Given the description of an element on the screen output the (x, y) to click on. 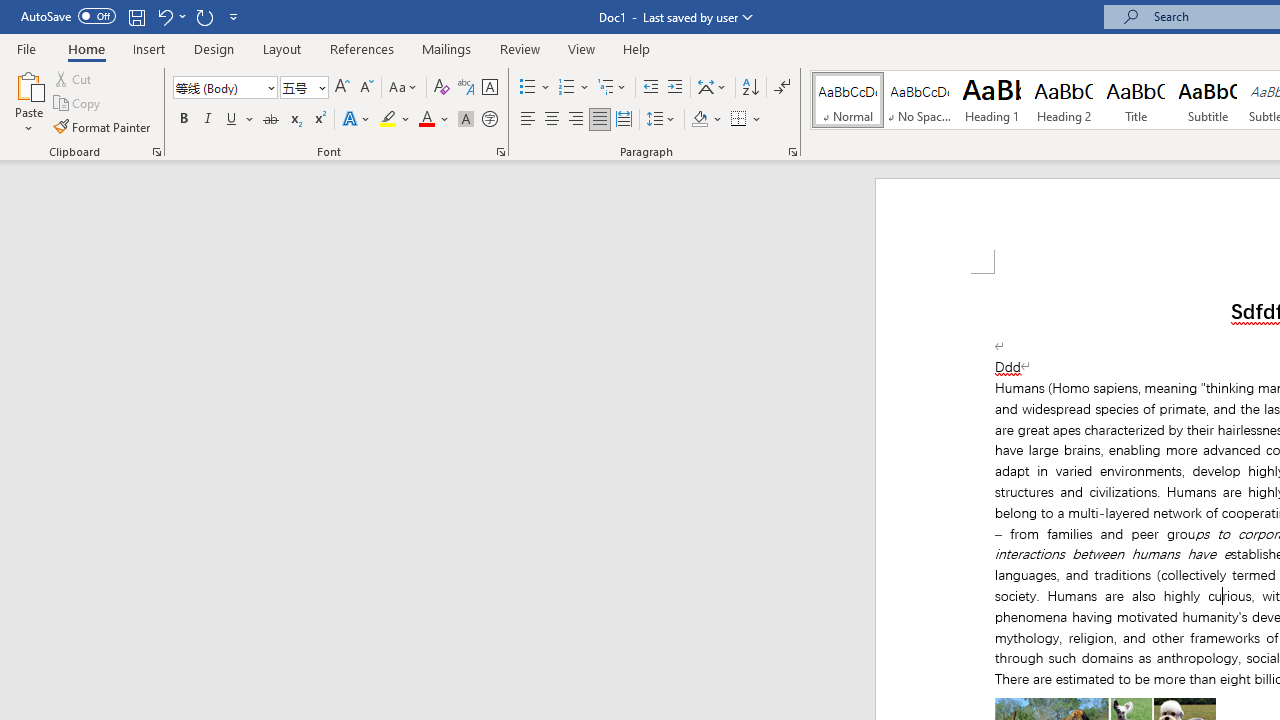
Shrink Font (365, 87)
Heading 2 (1063, 100)
Font Color RGB(255, 0, 0) (426, 119)
Office Clipboard... (156, 151)
Title (1135, 100)
Text Highlight Color Yellow (388, 119)
Asian Layout (712, 87)
Enclose Characters... (489, 119)
Superscript (319, 119)
